Given the description of an element on the screen output the (x, y) to click on. 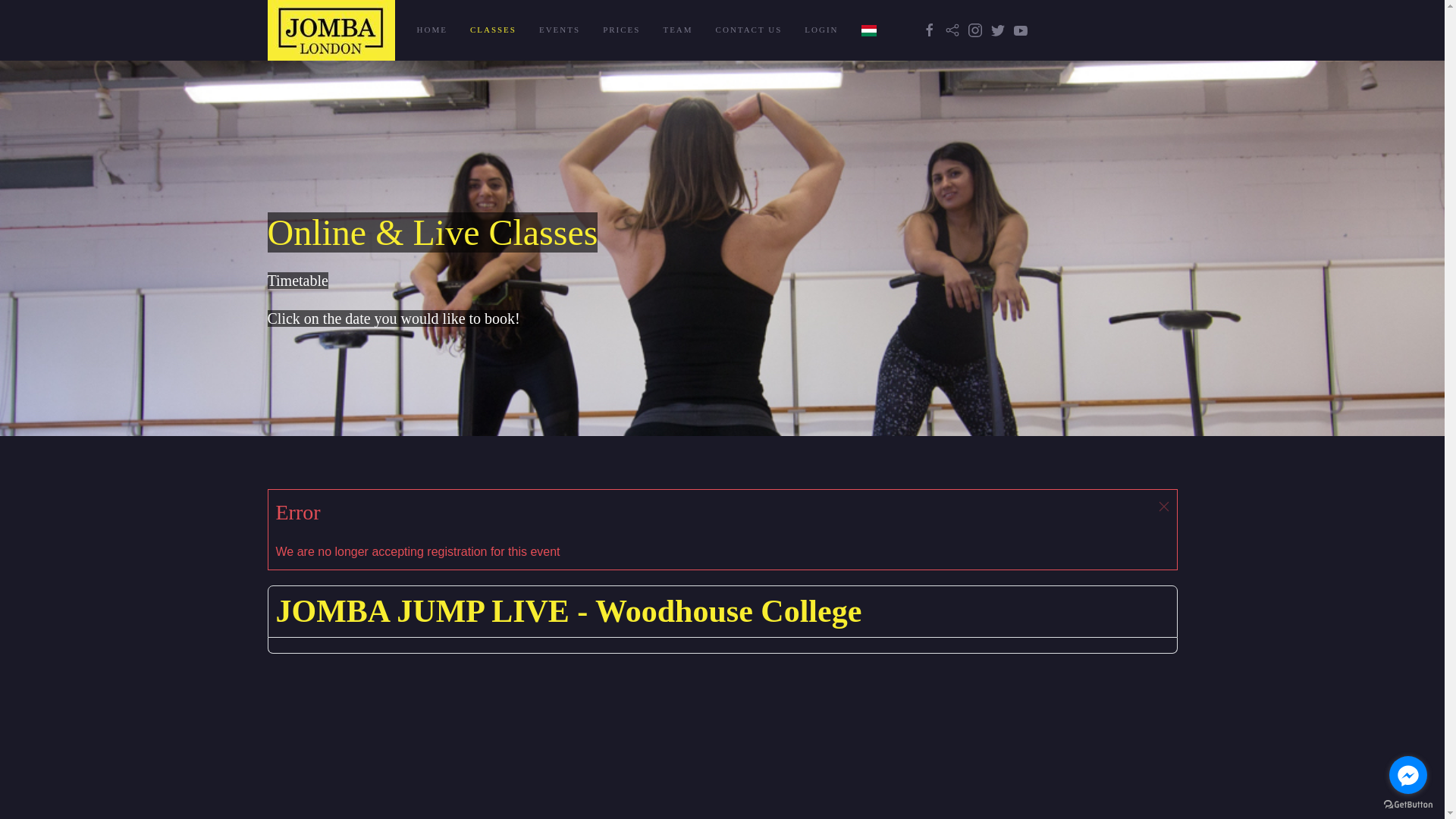
CONTACT US (748, 30)
LOGIN (820, 30)
EVENTS (559, 30)
PRICES (620, 30)
CLASSES (492, 30)
